Given the description of an element on the screen output the (x, y) to click on. 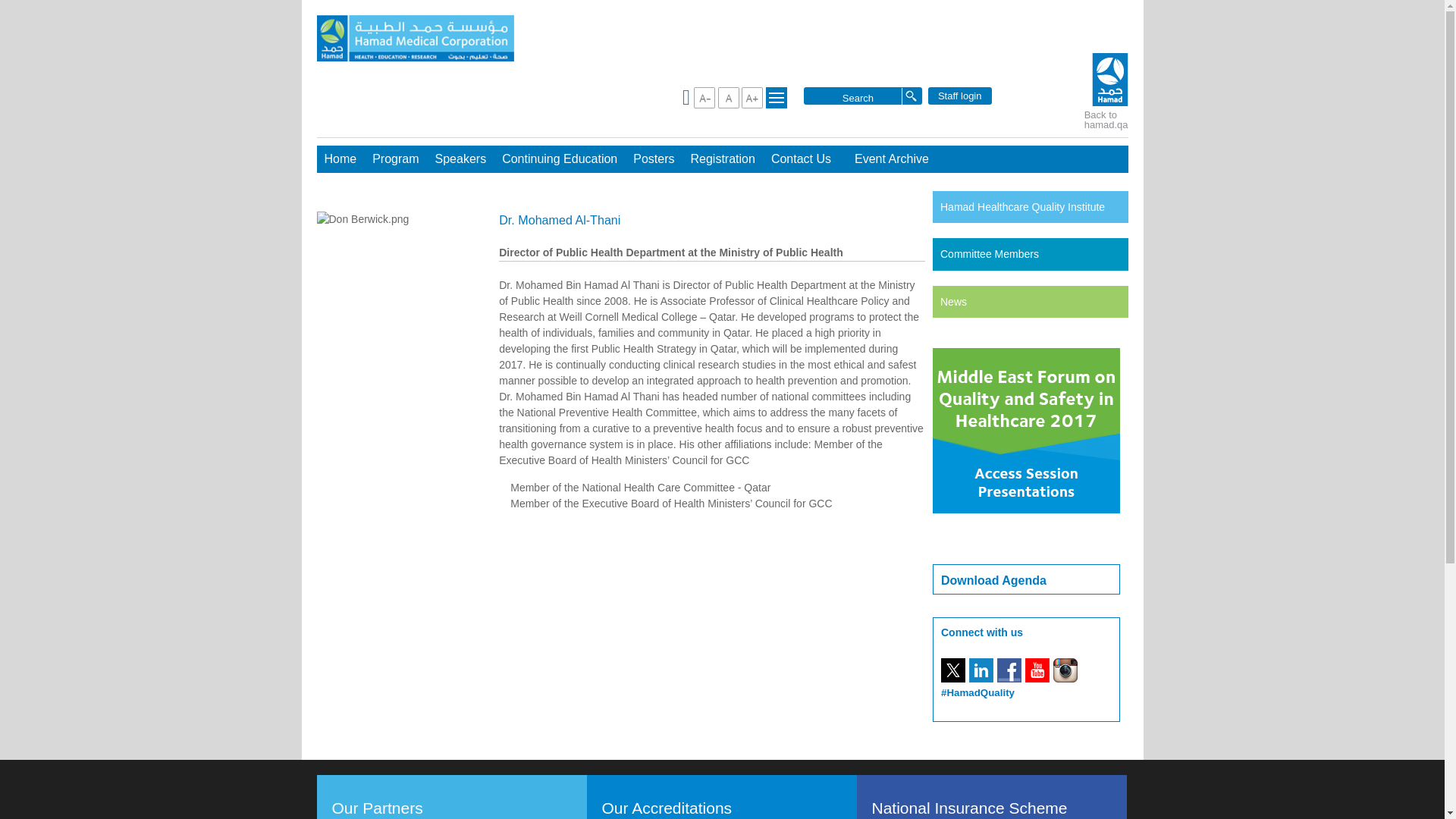
Hamad Healthcare Quality Institute (1022, 206)
Posters (653, 158)
Our Partners (383, 807)
National Insurance Scheme (967, 807)
News (953, 301)
Home (341, 158)
youtube (1037, 670)
Don Berwick.png (363, 219)
Search (857, 97)
Font resize (751, 97)
